Given the description of an element on the screen output the (x, y) to click on. 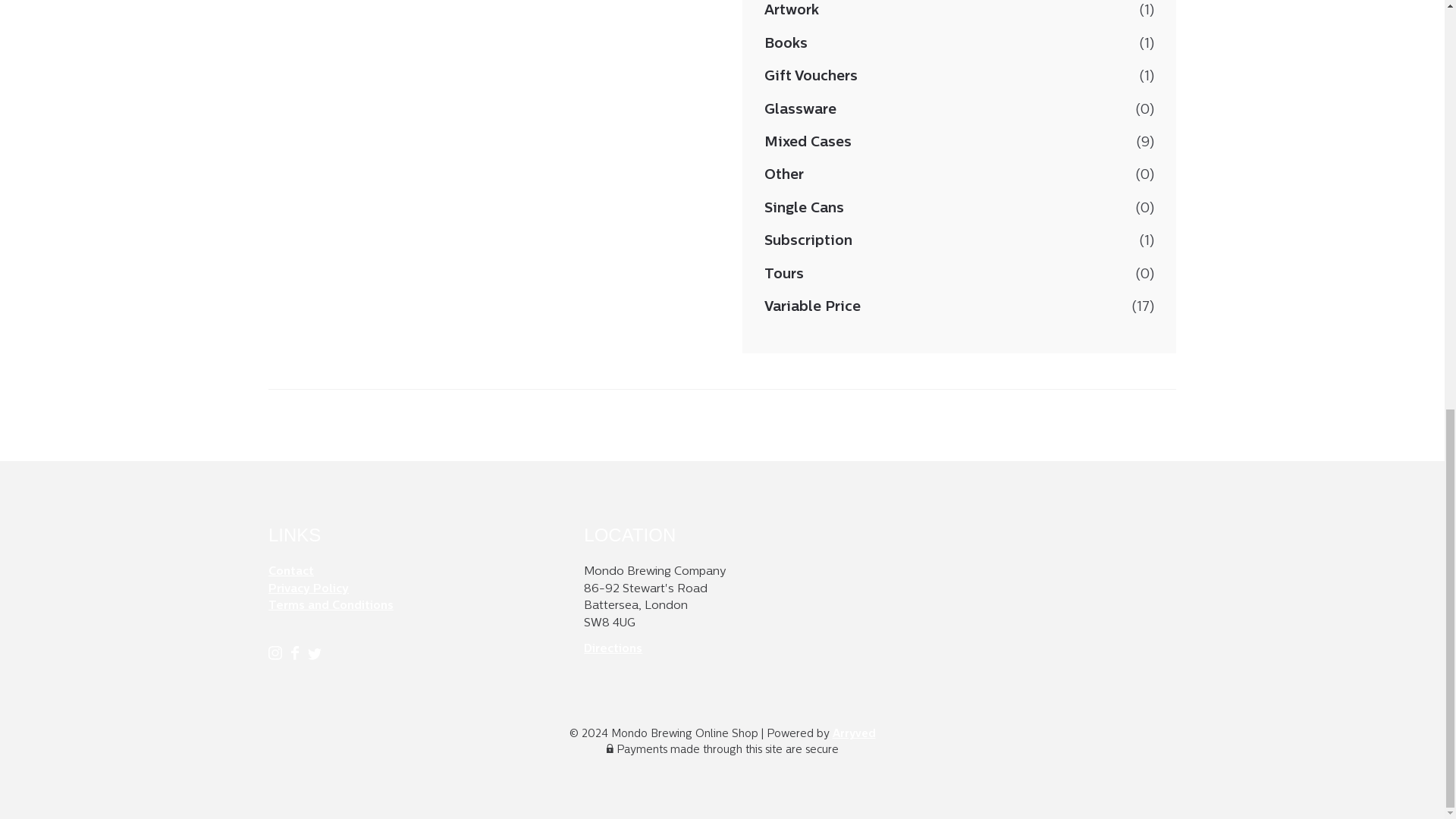
Mondo Brewing Company on Twitter (314, 656)
Mondo Brewing Company on Instagram (276, 656)
Mondo Brewing Company on Facebook (296, 656)
